Given the description of an element on the screen output the (x, y) to click on. 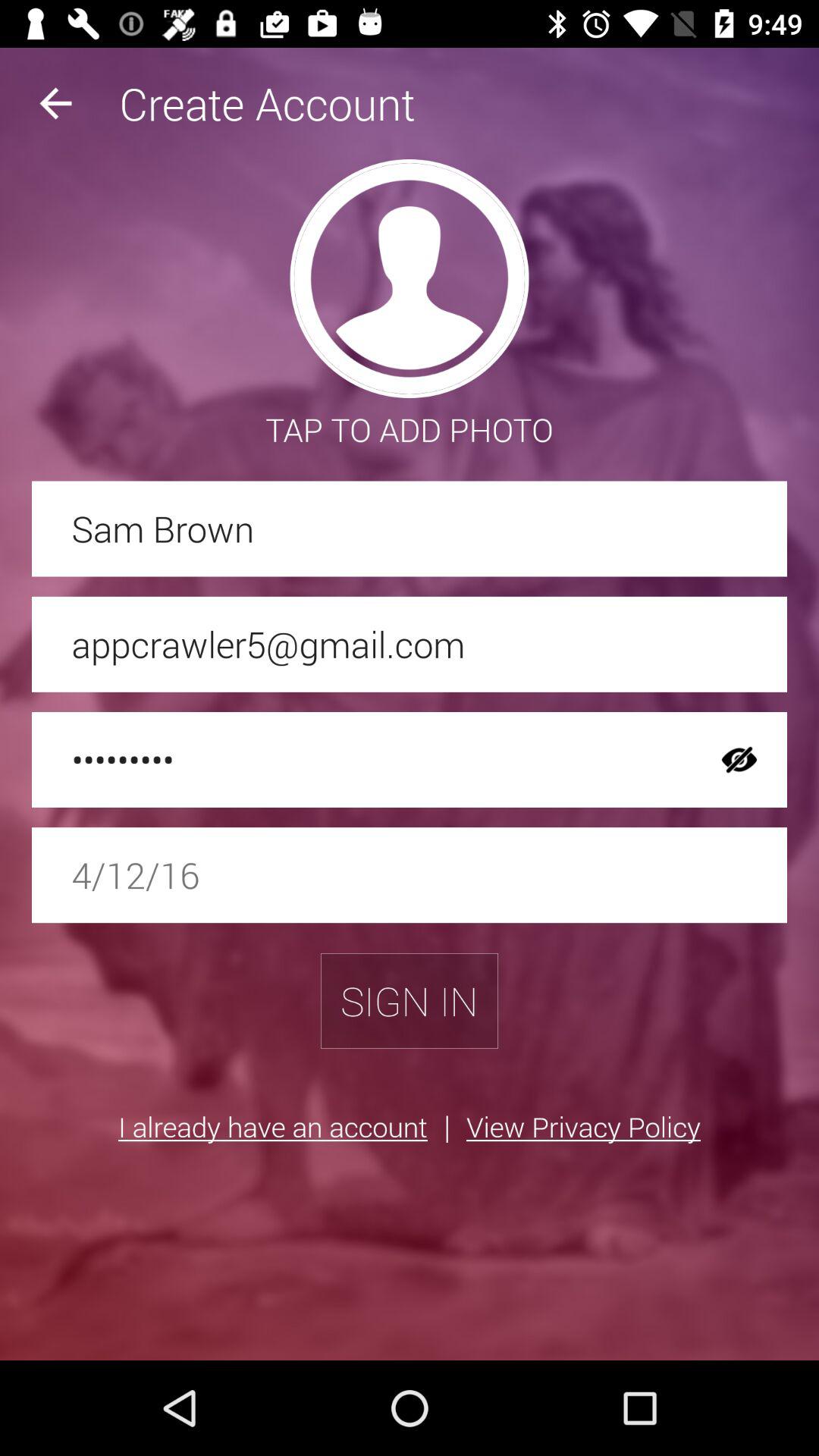
turn off item next to the crowd3116 icon (739, 759)
